Given the description of an element on the screen output the (x, y) to click on. 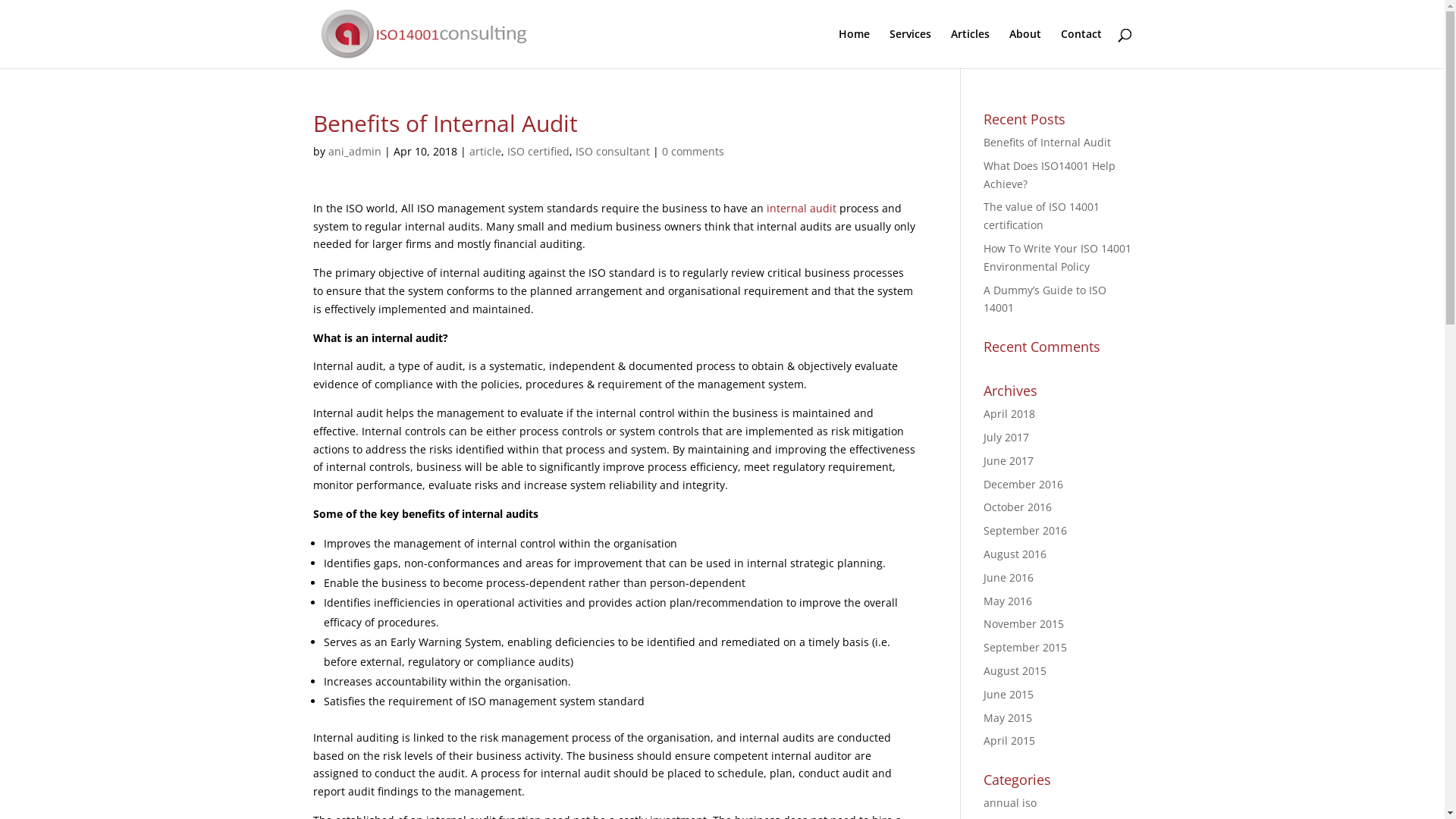
August 2015 Element type: text (1014, 670)
How To Write Your ISO 14001 Environmental Policy Element type: text (1057, 257)
article Element type: text (484, 151)
The value of ISO 14001 certification Element type: text (1041, 215)
About Element type: text (1024, 48)
September 2016 Element type: text (1024, 530)
July 2017 Element type: text (1006, 436)
ISO consultant Element type: text (611, 151)
September 2015 Element type: text (1024, 647)
June 2016 Element type: text (1008, 577)
Articles Element type: text (969, 48)
June 2017 Element type: text (1008, 460)
December 2016 Element type: text (1023, 483)
Benefits of Internal Audit Element type: text (1046, 141)
Home Element type: text (853, 48)
ISO certified Element type: text (537, 151)
October 2016 Element type: text (1017, 506)
Contact Element type: text (1080, 48)
August 2016 Element type: text (1014, 553)
June 2015 Element type: text (1008, 694)
ani_admin Element type: text (353, 151)
May 2016 Element type: text (1007, 600)
0 comments Element type: text (692, 151)
April 2015 Element type: text (1009, 740)
November 2015 Element type: text (1023, 623)
annual iso Element type: text (1009, 802)
Services Element type: text (909, 48)
internal audit Element type: text (800, 207)
April 2018 Element type: text (1009, 413)
What Does ISO14001 Help Achieve? Element type: text (1049, 174)
May 2015 Element type: text (1007, 717)
